Given the description of an element on the screen output the (x, y) to click on. 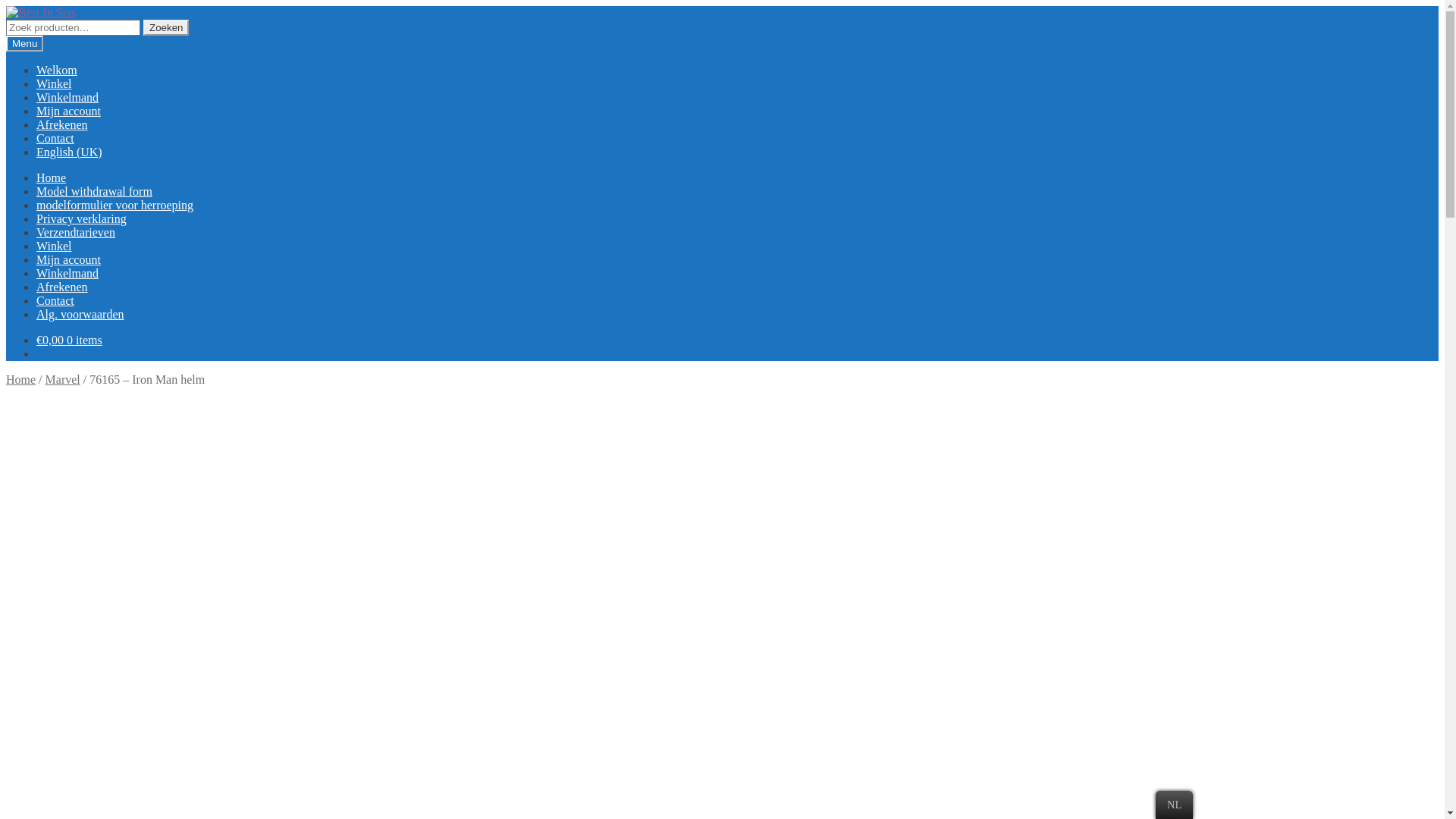
Winkel Element type: text (53, 245)
Home Element type: text (50, 177)
Verzendtarieven Element type: text (75, 231)
Menu Element type: text (24, 43)
Welkom Element type: text (56, 69)
Contact Element type: text (55, 137)
Contact Element type: text (55, 300)
Alg. voorwaarden Element type: text (80, 313)
Afrekenen Element type: text (61, 124)
Mijn account Element type: text (68, 110)
Marvel Element type: text (62, 379)
Winkel Element type: text (53, 83)
English (UK) Element type: text (69, 151)
Home Element type: text (20, 379)
Mijn account Element type: text (68, 259)
Zoeken Element type: text (165, 27)
Winkelmand Element type: text (67, 272)
Skip to navigation Element type: text (5, 5)
Winkelmand Element type: text (67, 97)
modelformulier voor herroeping Element type: text (114, 204)
Privacy verklaring Element type: text (81, 218)
Afrekenen Element type: text (61, 286)
Model withdrawal form Element type: text (94, 191)
